Given the description of an element on the screen output the (x, y) to click on. 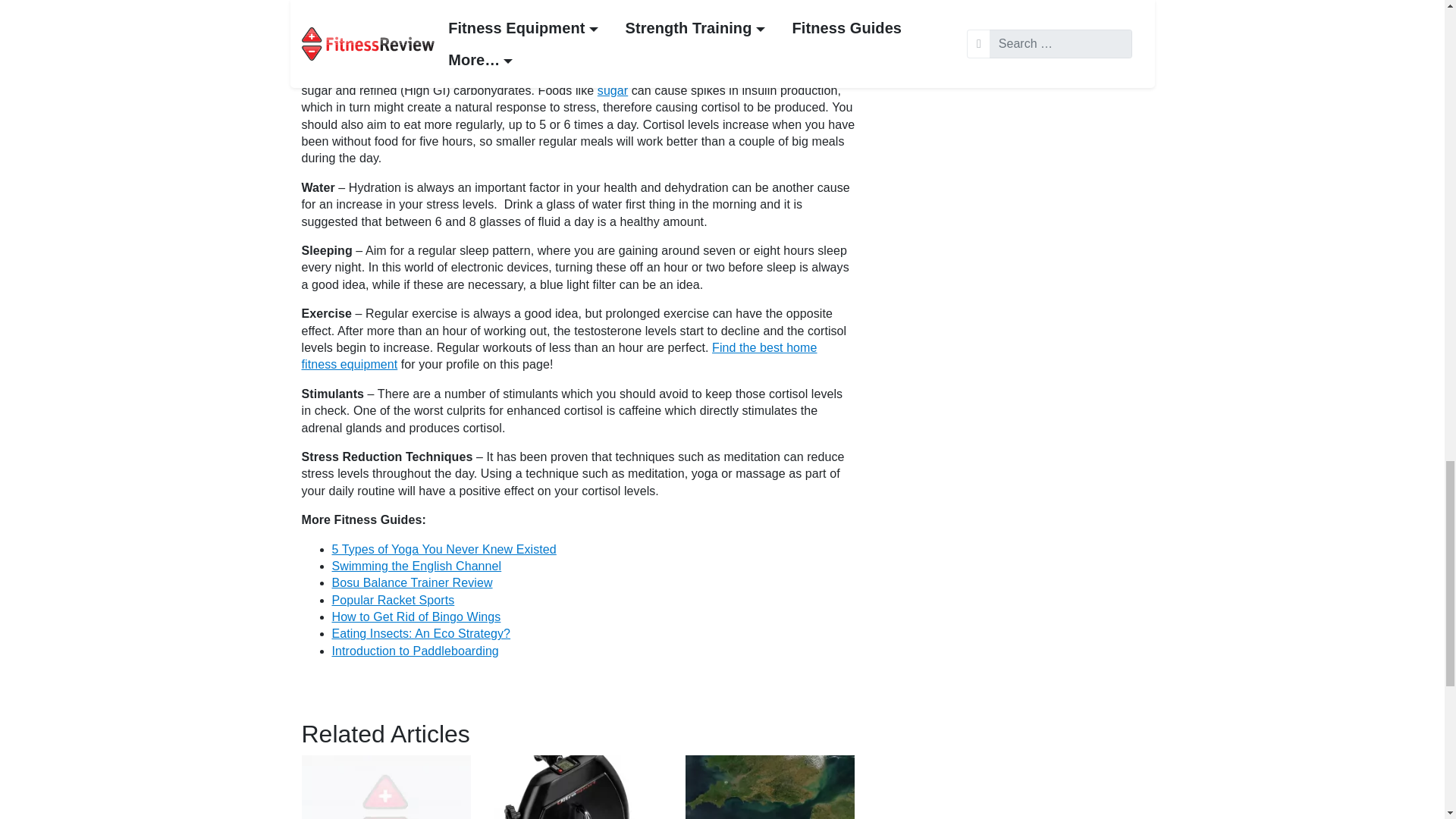
English-Channel (769, 787)
placeholder (385, 787)
ultrasport-mini-bike (577, 787)
